Given the description of an element on the screen output the (x, y) to click on. 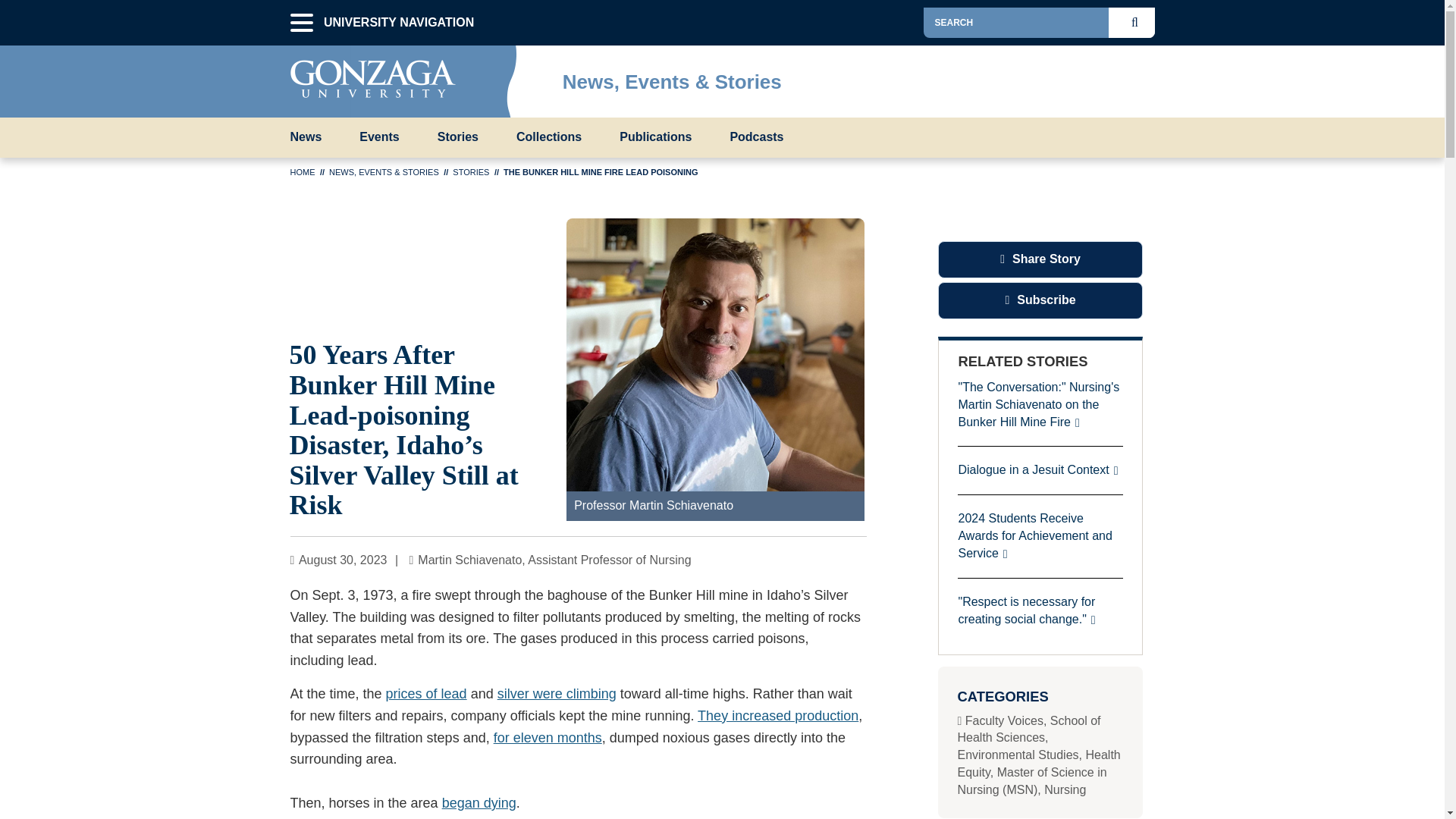
SEARCH BUTTON (1137, 22)
Toggle Menu (1142, 77)
UNIVERSITY NAVIGATION (301, 22)
